Given the description of an element on the screen output the (x, y) to click on. 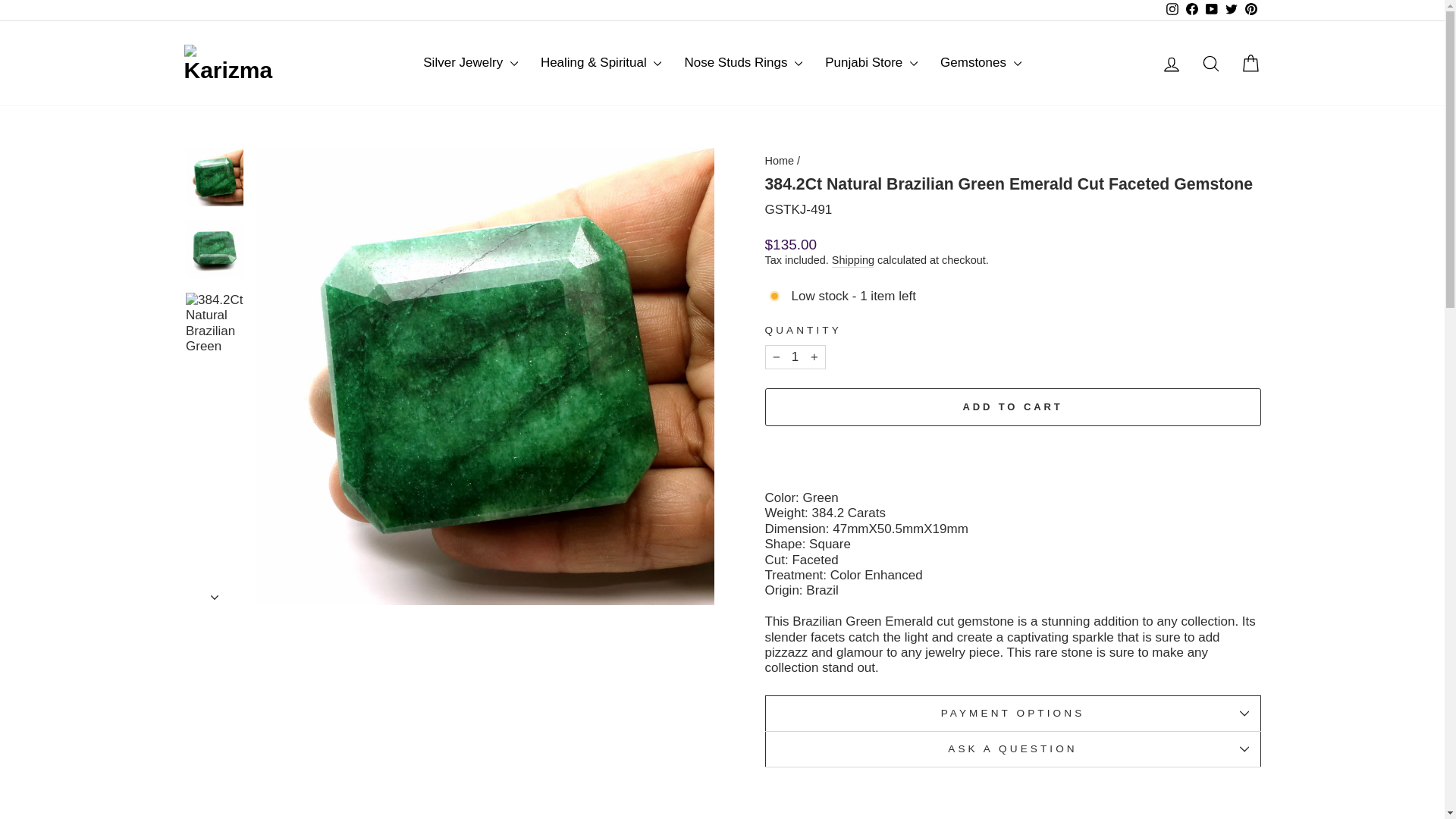
Karizma Jewels on Instagram (1170, 10)
account (1170, 64)
Karizma Jewels on Twitter (1230, 10)
Karizma Jewels on Pinterest (1250, 10)
Karizma Jewels on YouTube (1211, 10)
icon-search (1210, 63)
Karizma Jewels on Facebook (1190, 10)
Back to the frontpage (778, 160)
instagram (1171, 9)
